Given the description of an element on the screen output the (x, y) to click on. 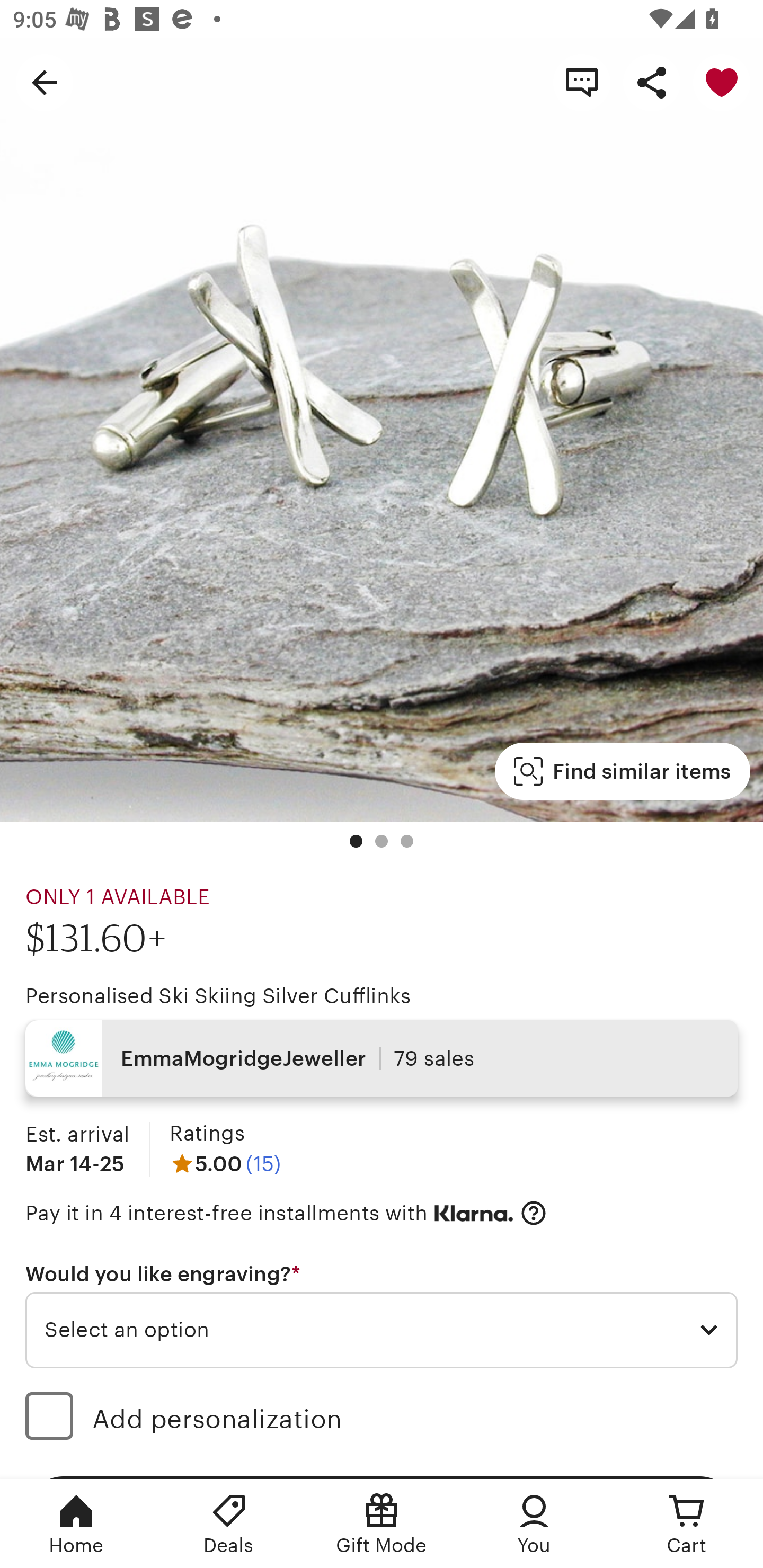
Navigate up (44, 81)
Contact shop (581, 81)
Share (651, 81)
Find similar items (622, 771)
Personalised Ski Skiing Silver Cufflinks (218, 996)
EmmaMogridgeJeweller 79 sales (381, 1058)
Ratings (206, 1133)
5.00 (15) (225, 1163)
Select an option (381, 1330)
Add personalization (optional) Add personalization (381, 1418)
Deals (228, 1523)
Gift Mode (381, 1523)
You (533, 1523)
Cart (686, 1523)
